Given the description of an element on the screen output the (x, y) to click on. 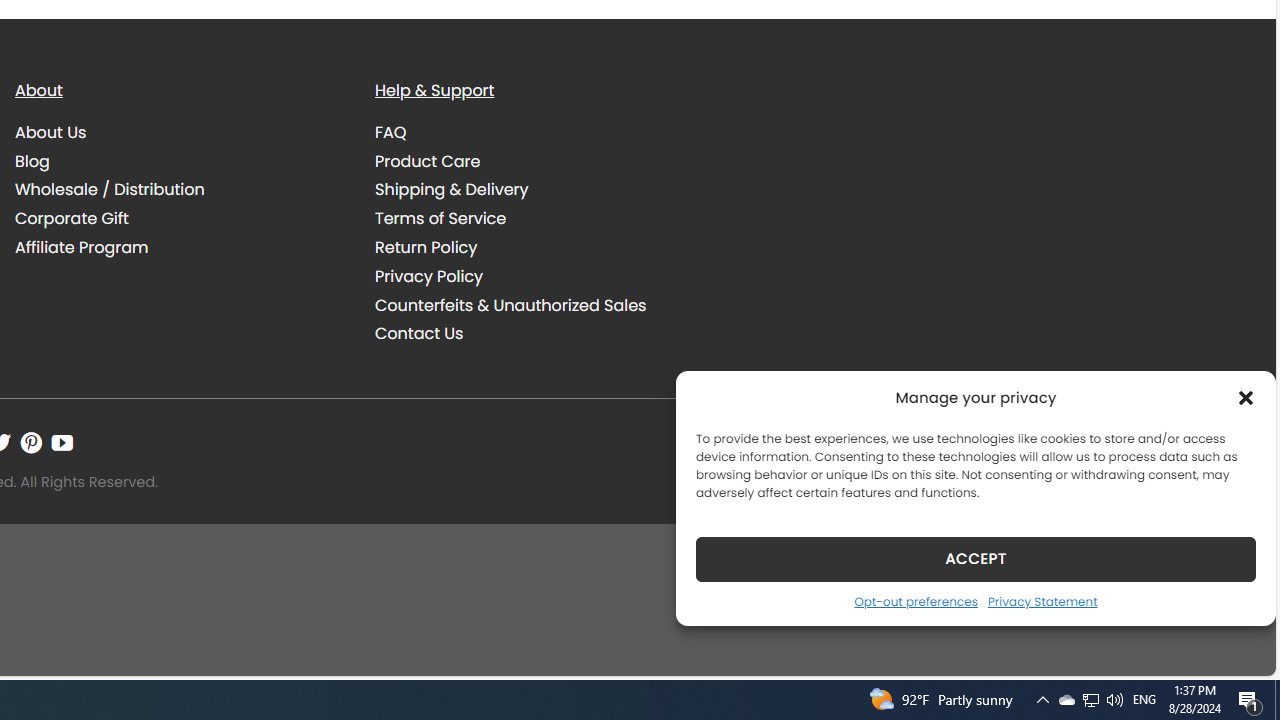
Affiliate Program (180, 247)
Privacy Policy (429, 276)
Return Policy (426, 247)
Go to top (1234, 647)
FAQ (391, 132)
Opt-out preferences (915, 601)
Shipping & Delivery (451, 189)
FAQ (540, 132)
Wholesale / Distribution (180, 190)
Privacy Policy (540, 276)
Corporate Gift (180, 218)
Affiliate Program (81, 247)
Follow on YouTube (61, 442)
Corporate Gift (72, 219)
